Given the description of an element on the screen output the (x, y) to click on. 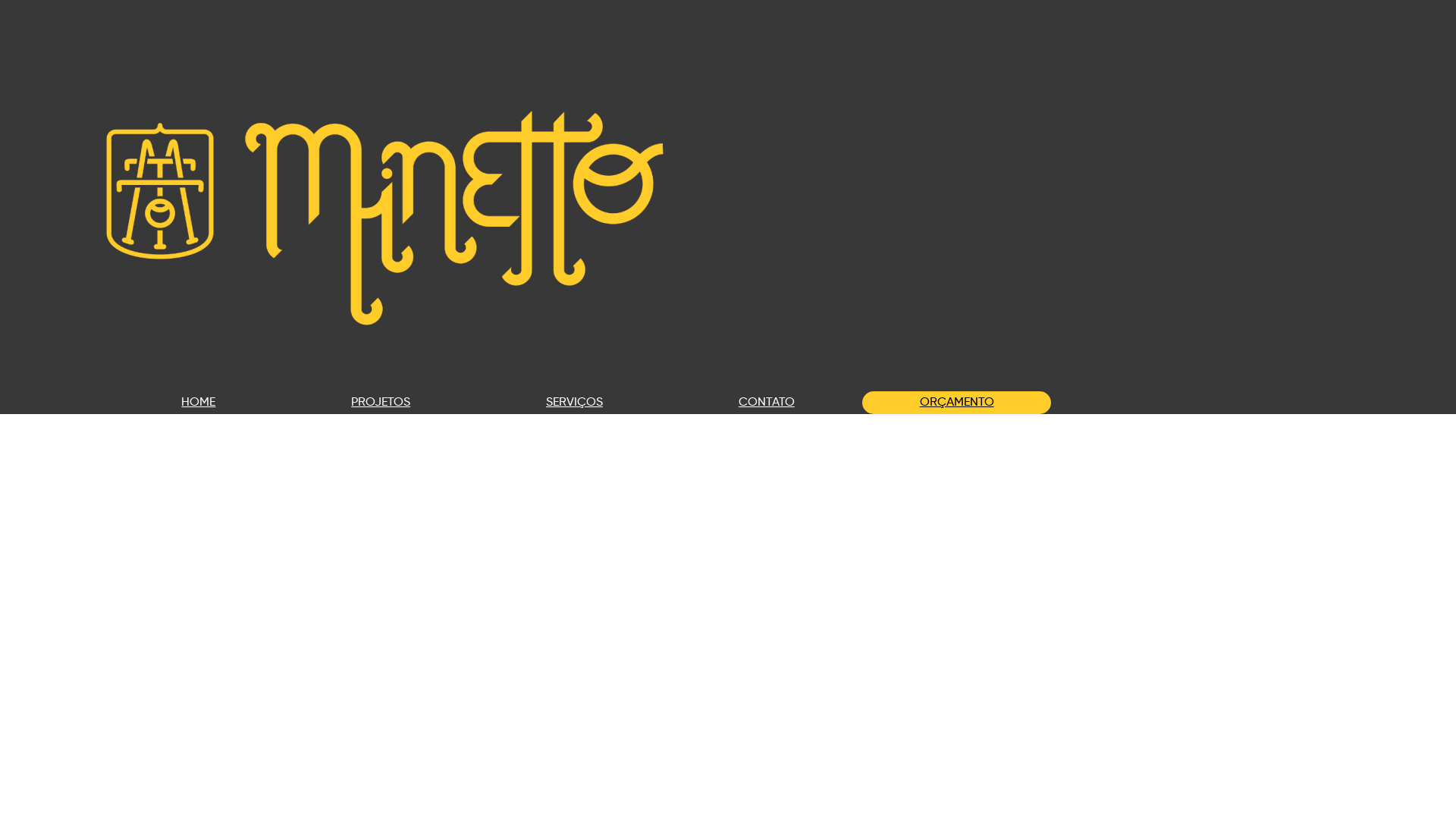
CONTATO Element type: text (766, 402)
PROJETOS Element type: text (380, 402)
HOME Element type: text (198, 402)
